Given the description of an element on the screen output the (x, y) to click on. 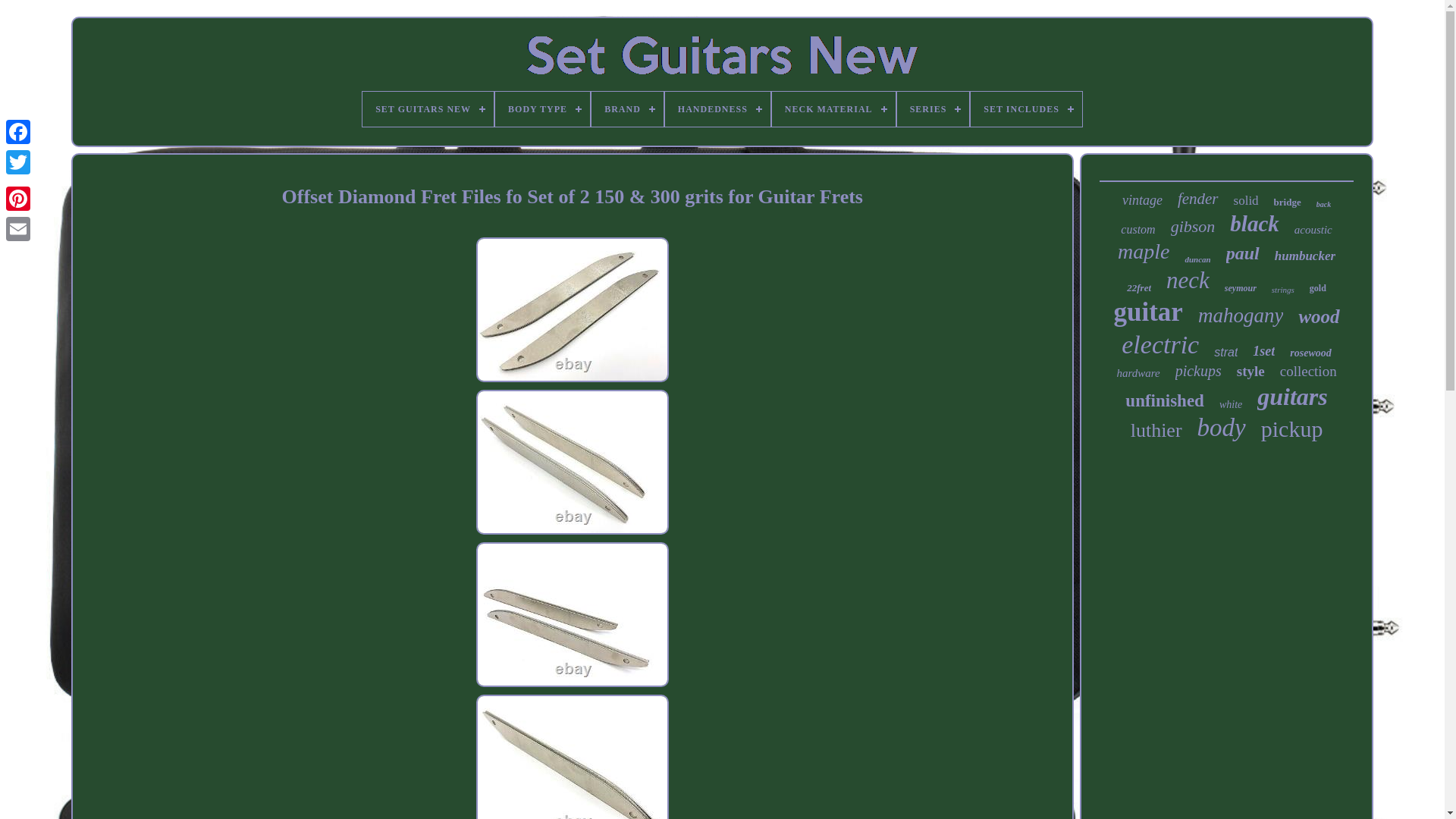
BODY TYPE (542, 108)
SET GUITARS NEW (427, 108)
BRAND (627, 108)
